Given the description of an element on the screen output the (x, y) to click on. 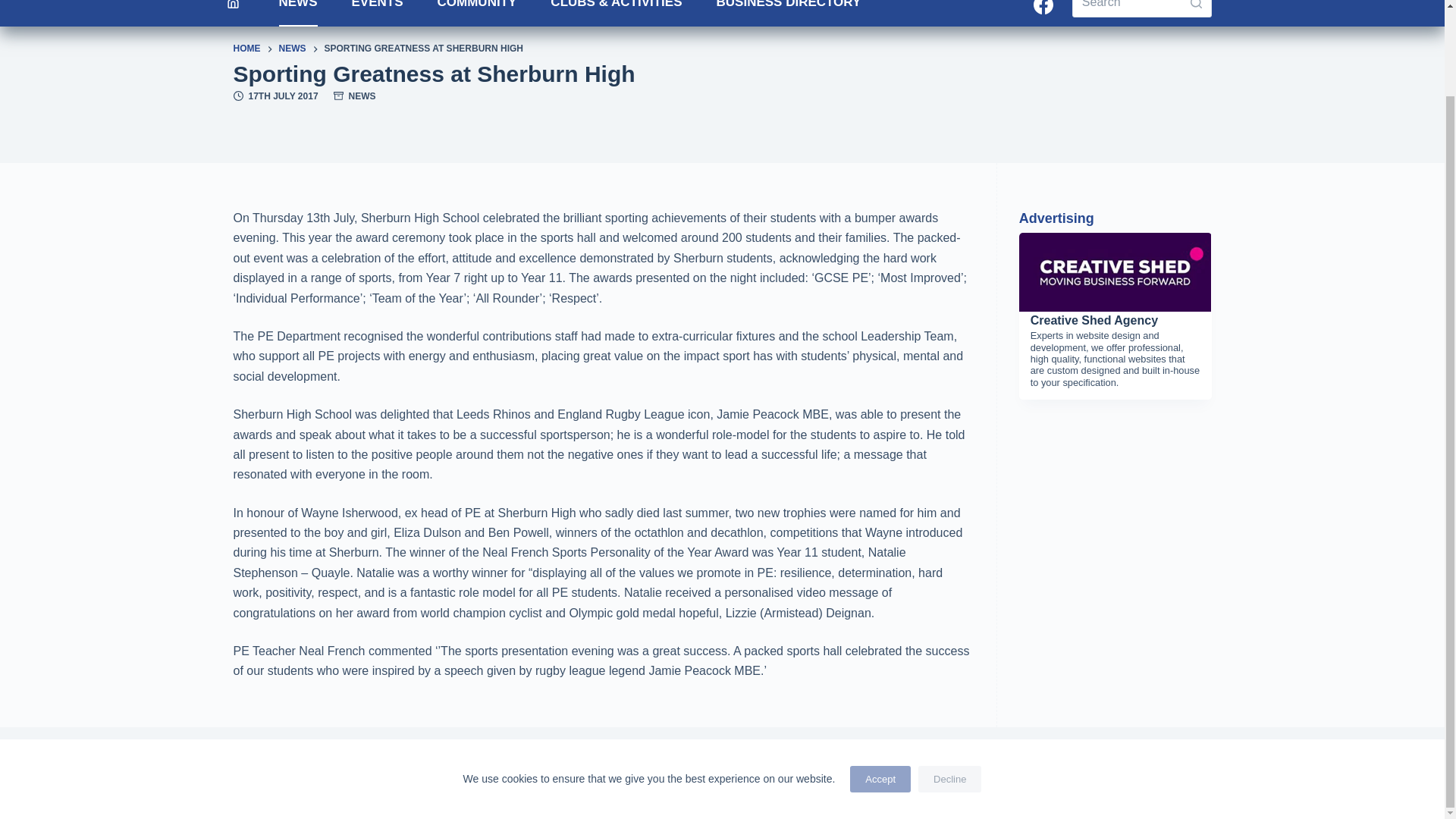
PRIVACY POLICY (628, 748)
Search for... (1141, 8)
COOKIE POLICY (722, 748)
Sporting Greatness at Sherburn High (721, 73)
NEWS (292, 48)
COMMUNITY (477, 13)
NEWS (298, 13)
THE RESIDENT (417, 748)
CONTACT ADMIN (814, 748)
SHERBURN INFORMER (520, 748)
Accept (880, 681)
NEWS (362, 95)
BUSINESS DIRECTORY (787, 13)
HOME (246, 48)
